Given the description of an element on the screen output the (x, y) to click on. 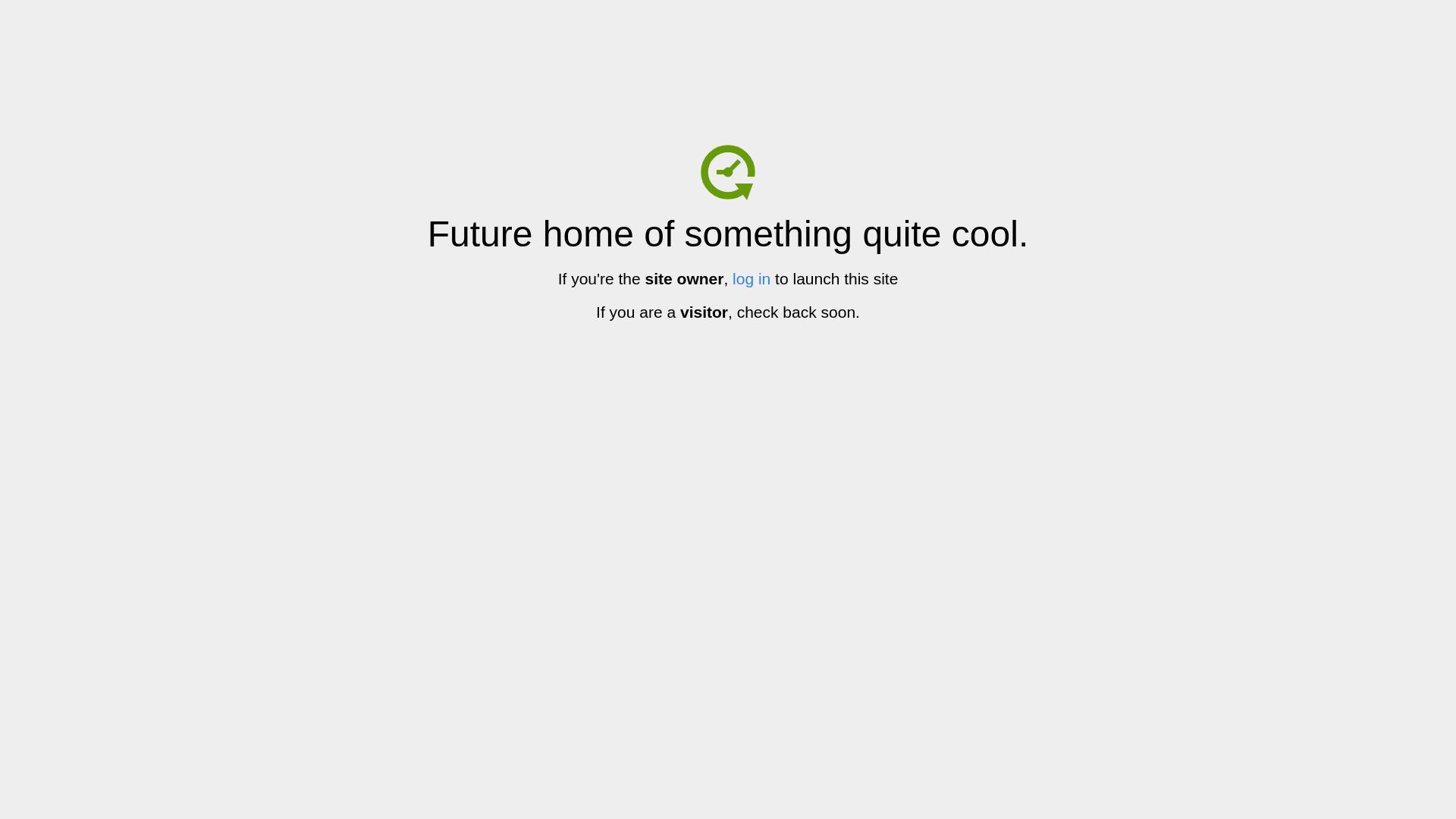
log in Element type: text (751, 278)
